Given the description of an element on the screen output the (x, y) to click on. 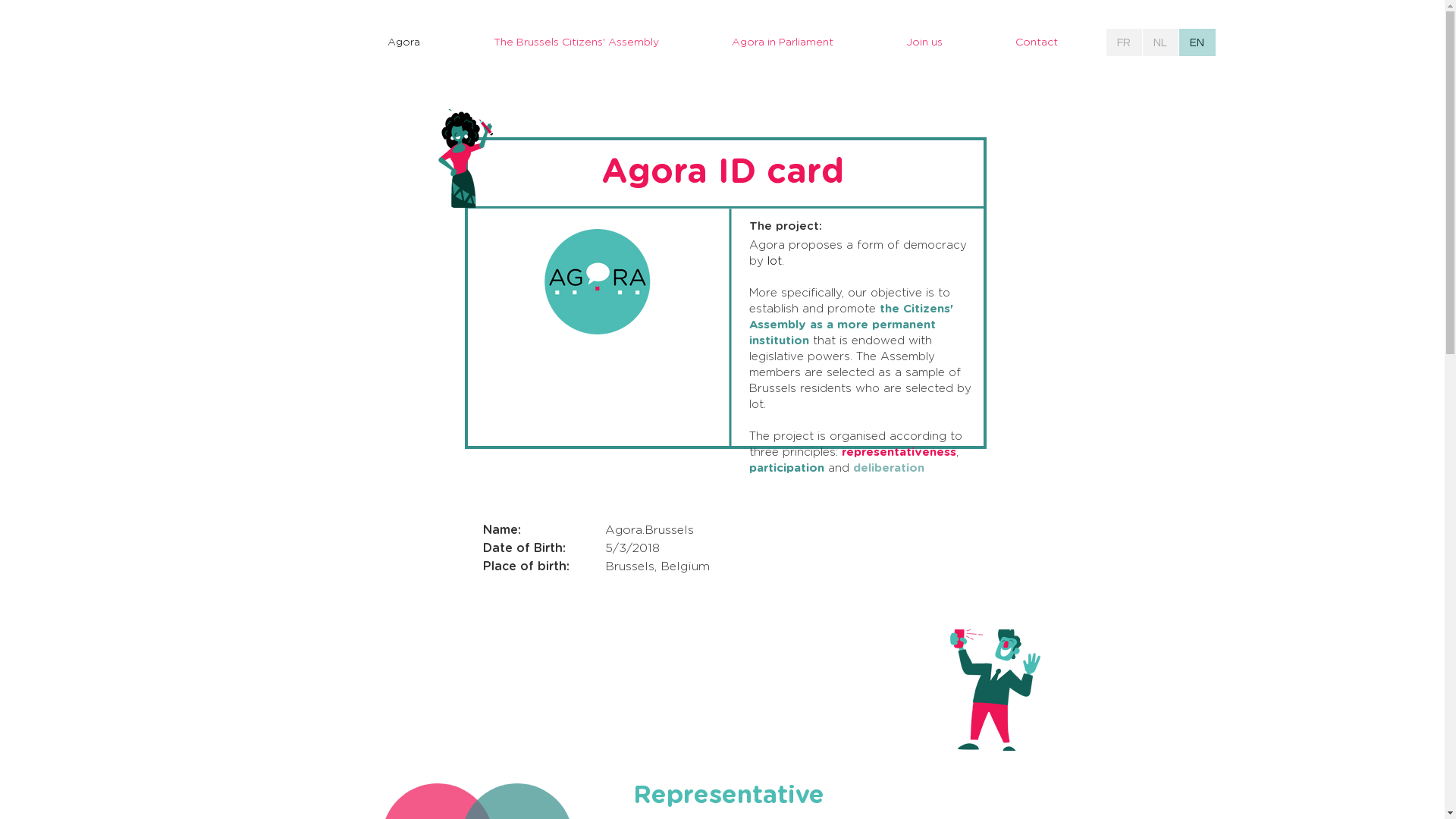
Agora Element type: text (403, 42)
NL Element type: text (1160, 42)
Agora in Parliament Element type: text (781, 42)
Join us Element type: text (923, 42)
EN Element type: text (1196, 42)
FR Element type: text (1123, 42)
Contact Element type: text (1035, 42)
The Brussels Citizens' Assembly Element type: text (575, 42)
